Given the description of an element on the screen output the (x, y) to click on. 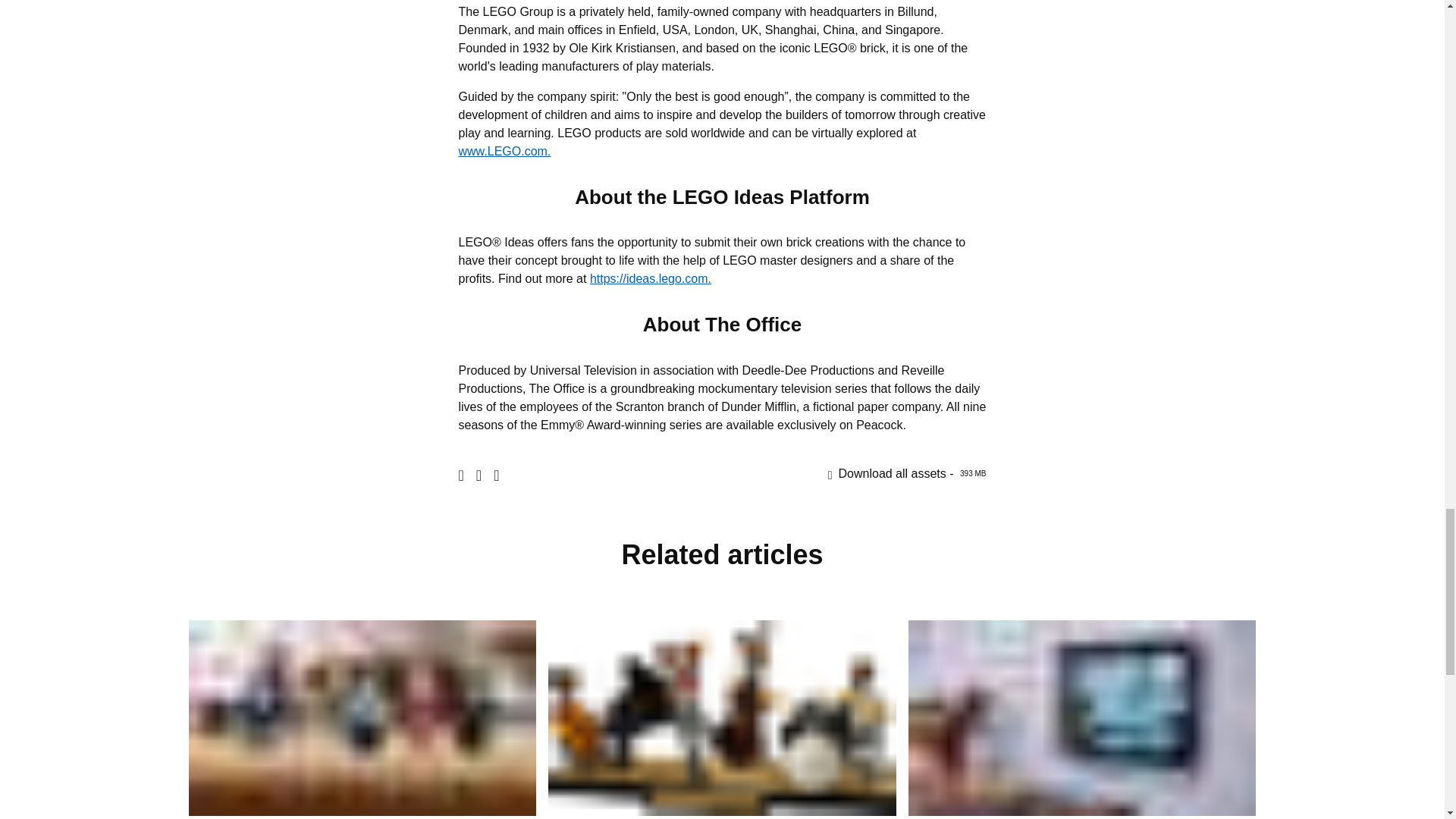
Download all assets (907, 473)
www.LEGO.com. (907, 473)
